Given the description of an element on the screen output the (x, y) to click on. 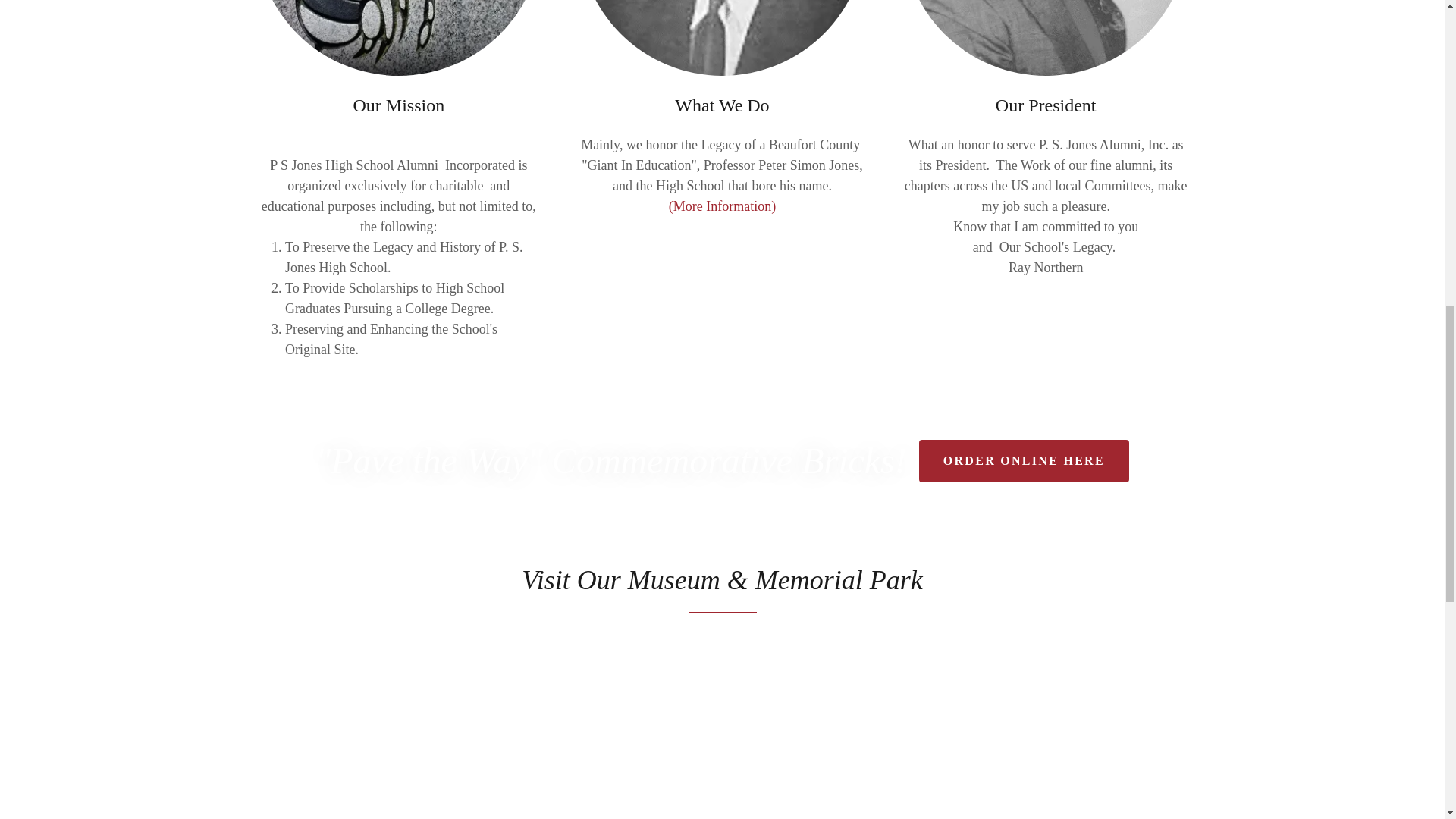
ORDER ONLINE HERE (1023, 460)
